Given the description of an element on the screen output the (x, y) to click on. 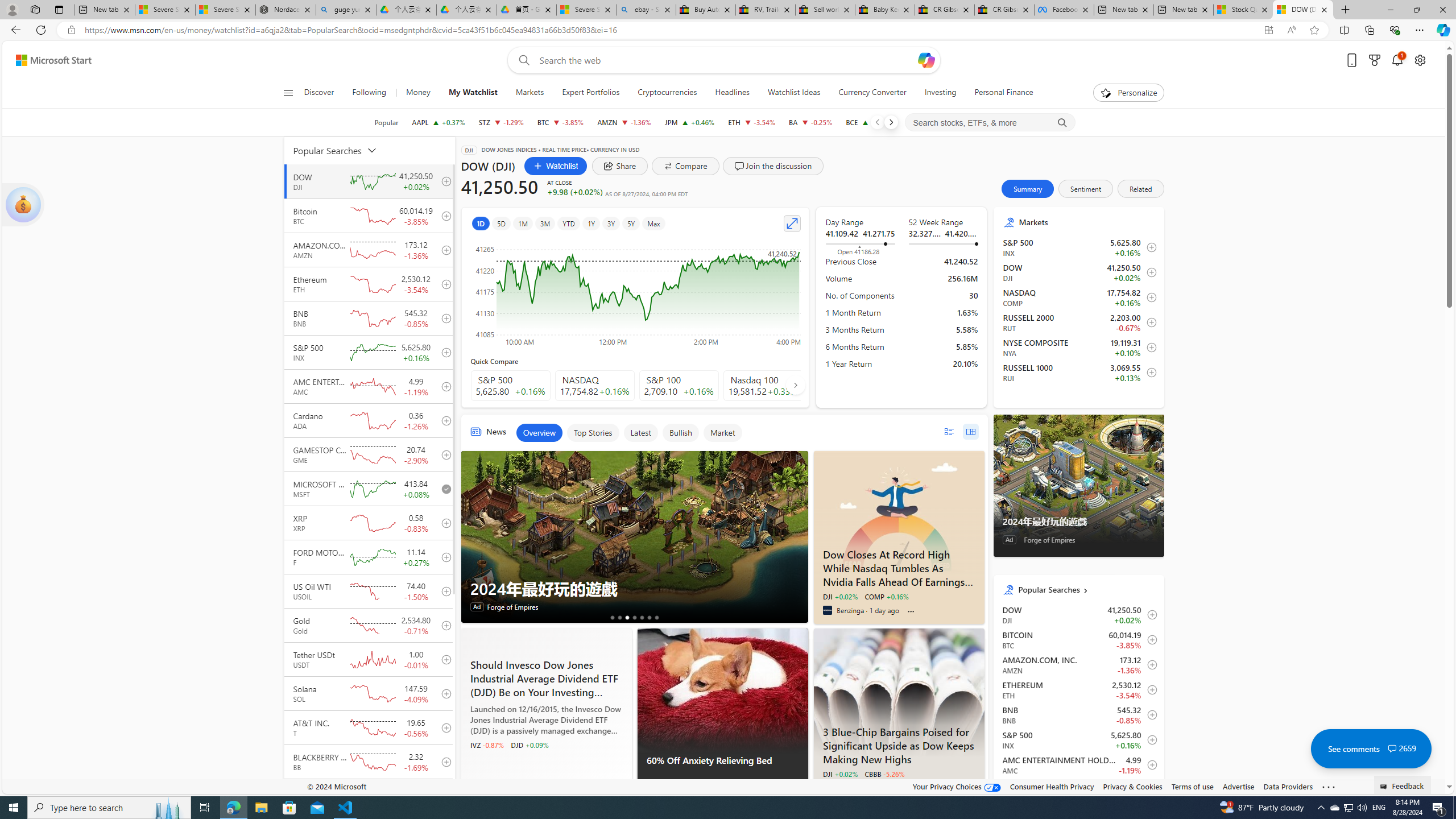
Your Privacy Choices (956, 785)
BTC Bitcoin decrease 60,014.19 -2,311.75 -3.85% (560, 122)
Related (1140, 188)
AAPL APPLE INC. increase 228.03 +0.85 +0.37% (437, 122)
Search stocks, ETFs, & more (989, 122)
BA THE BOEING COMPANY decrease 173.05 -0.43 -0.25% (810, 122)
STZ CONSTELLATION BRANDS, INC. decrease 239.98 -3.13 -1.29% (500, 122)
Watchlist (556, 166)
1D (480, 223)
